Given the description of an element on the screen output the (x, y) to click on. 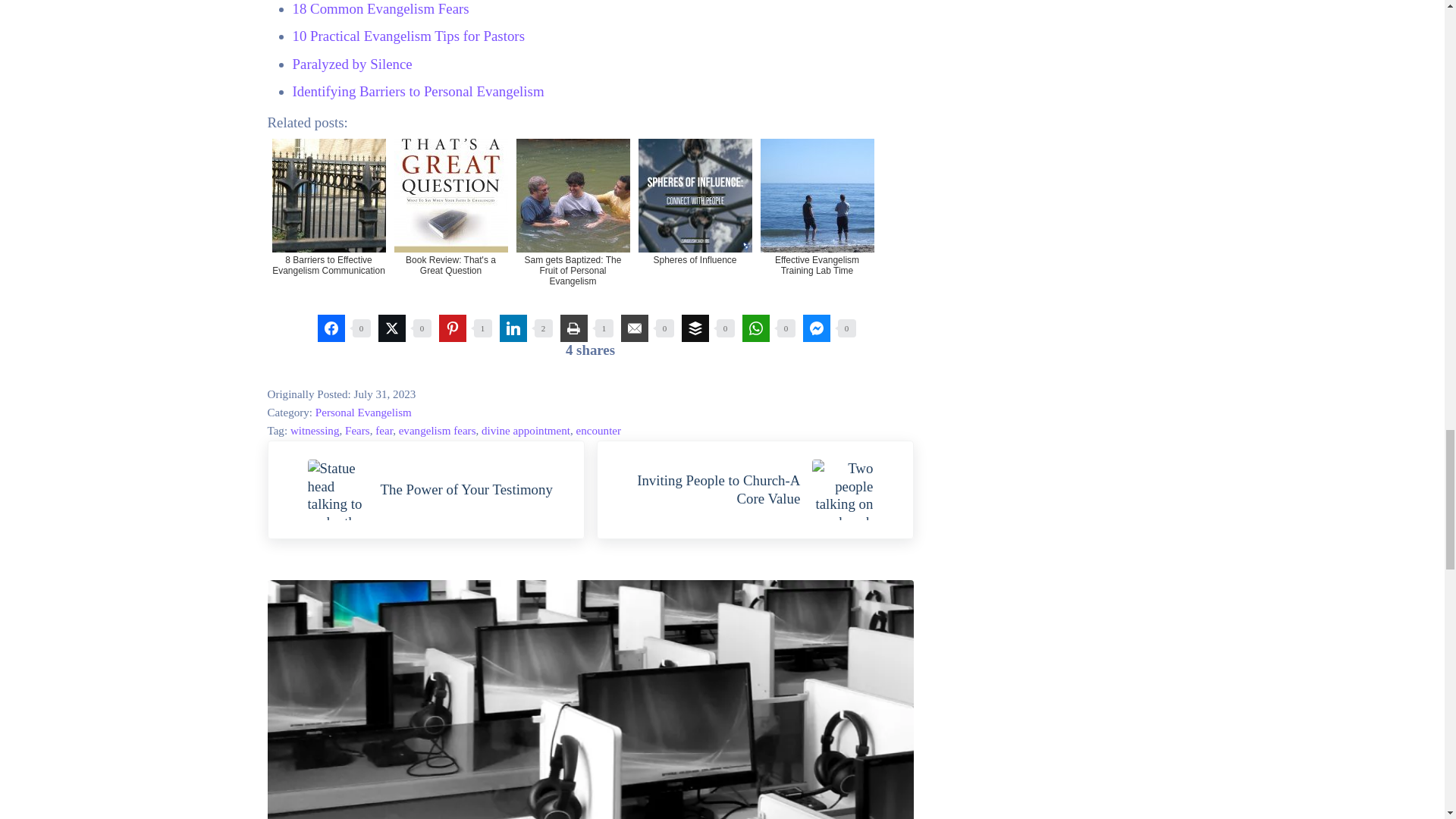
Share on Pinterest (451, 328)
Share on Facebook (330, 328)
Share on E-mail (633, 328)
10 Practical Evangelism Tips for Pastors (408, 35)
Share on LinkedIn (512, 328)
Share on WhatsApp (754, 328)
Share on Buffer (694, 328)
18 Common Evangelism Fears (380, 8)
Share on Print (572, 328)
Paralyzed by Silence (352, 64)
Identifying Barriers to Personal Evangelism (418, 91)
Share on Twitter (390, 328)
Share on Messenger (815, 328)
